Given the description of an element on the screen output the (x, y) to click on. 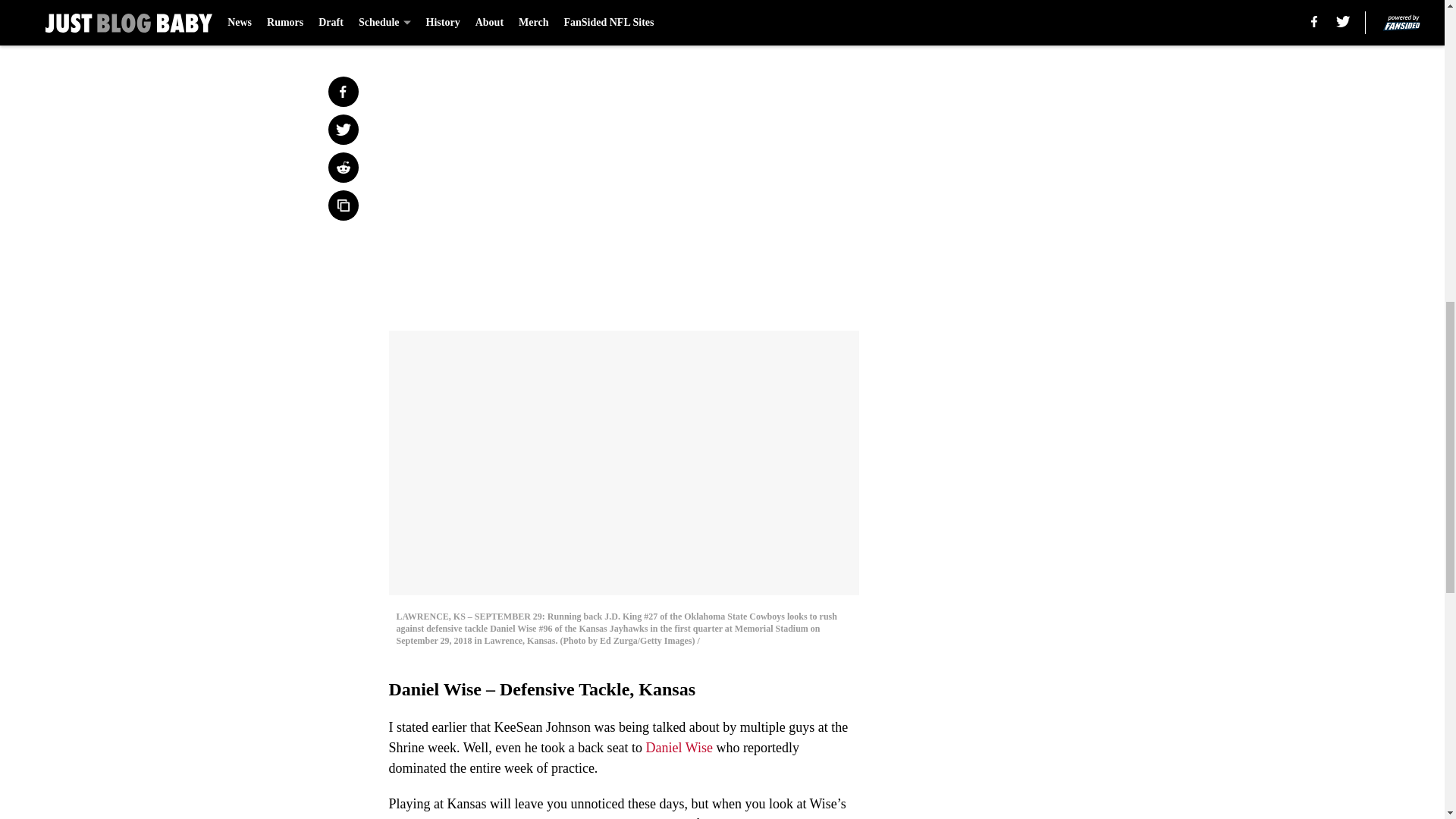
Prev (433, 20)
Next (813, 20)
Daniel Wise (679, 747)
